Given the description of an element on the screen output the (x, y) to click on. 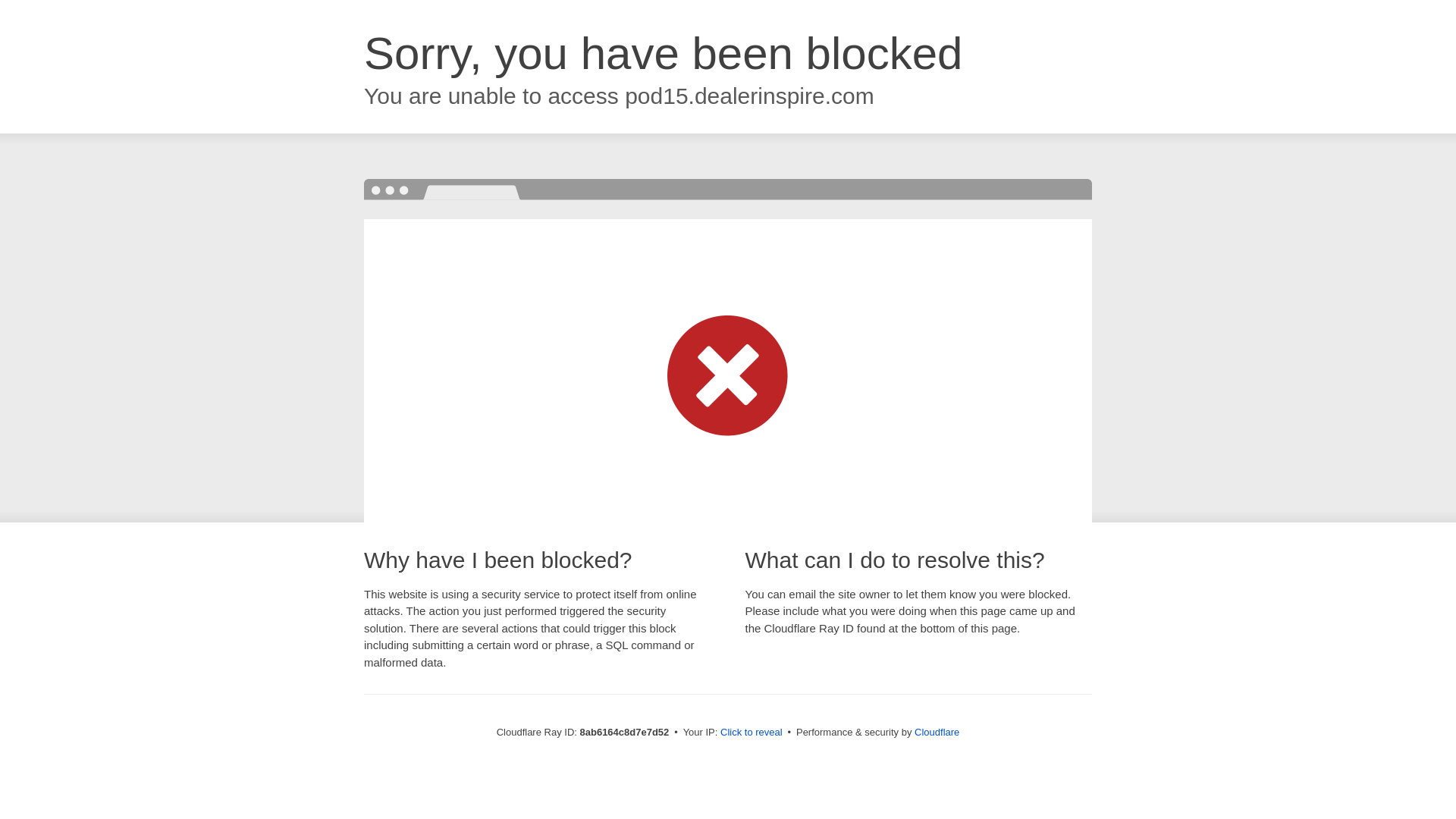
Click to reveal (751, 732)
Cloudflare (936, 731)
